Given the description of an element on the screen output the (x, y) to click on. 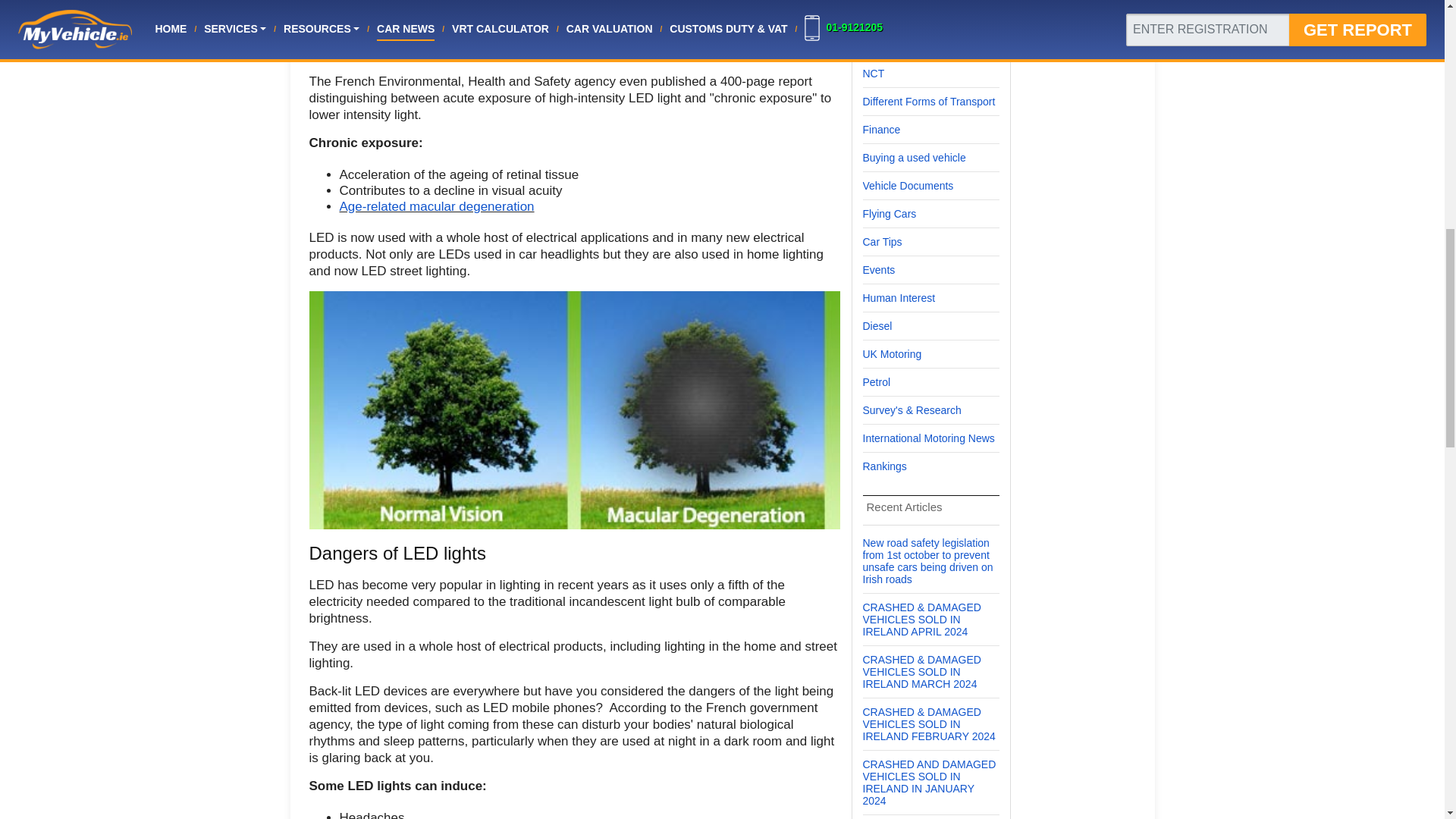
Age-related macular degeneration (436, 206)
